Given the description of an element on the screen output the (x, y) to click on. 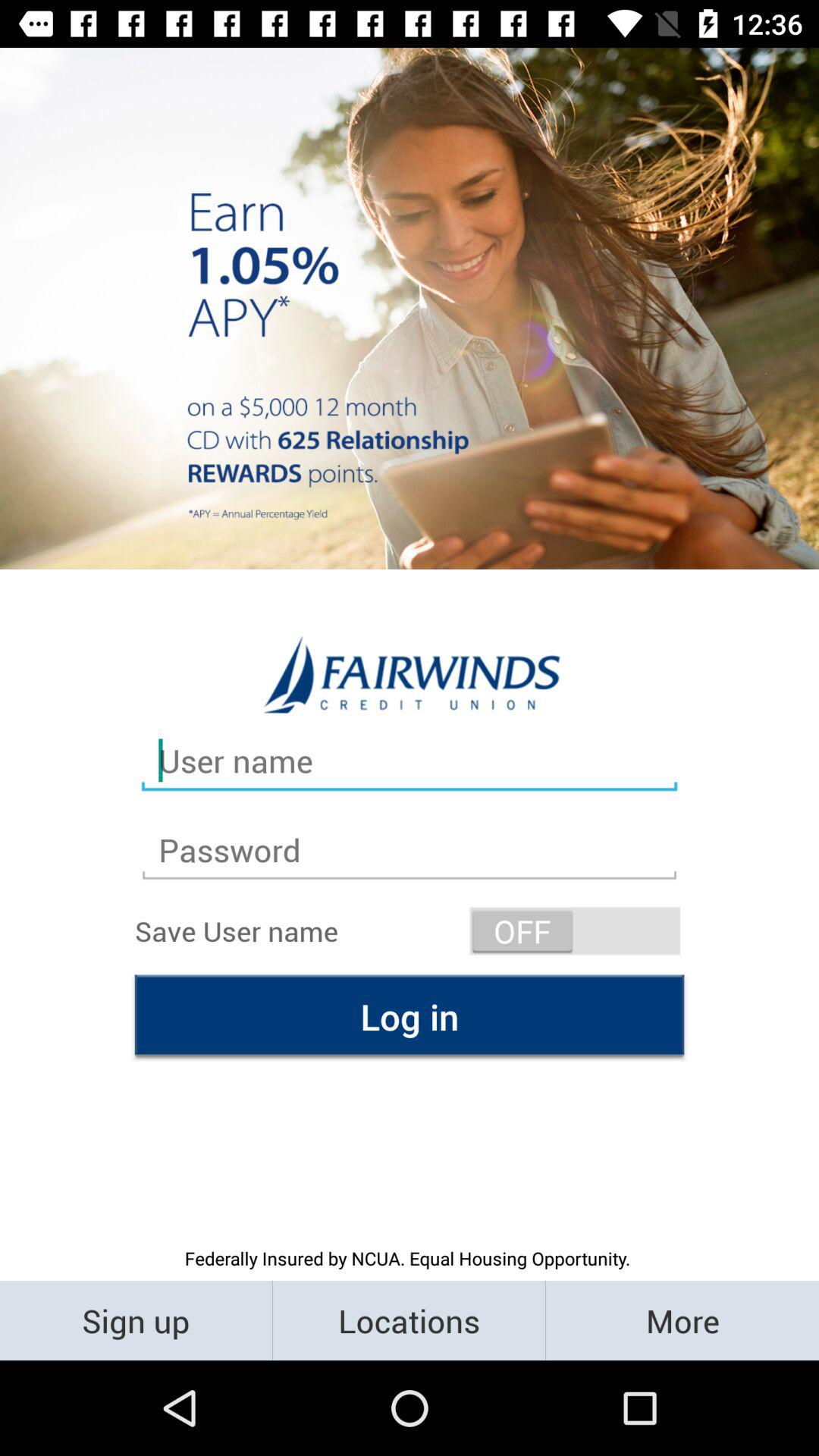
press more item (682, 1320)
